Given the description of an element on the screen output the (x, y) to click on. 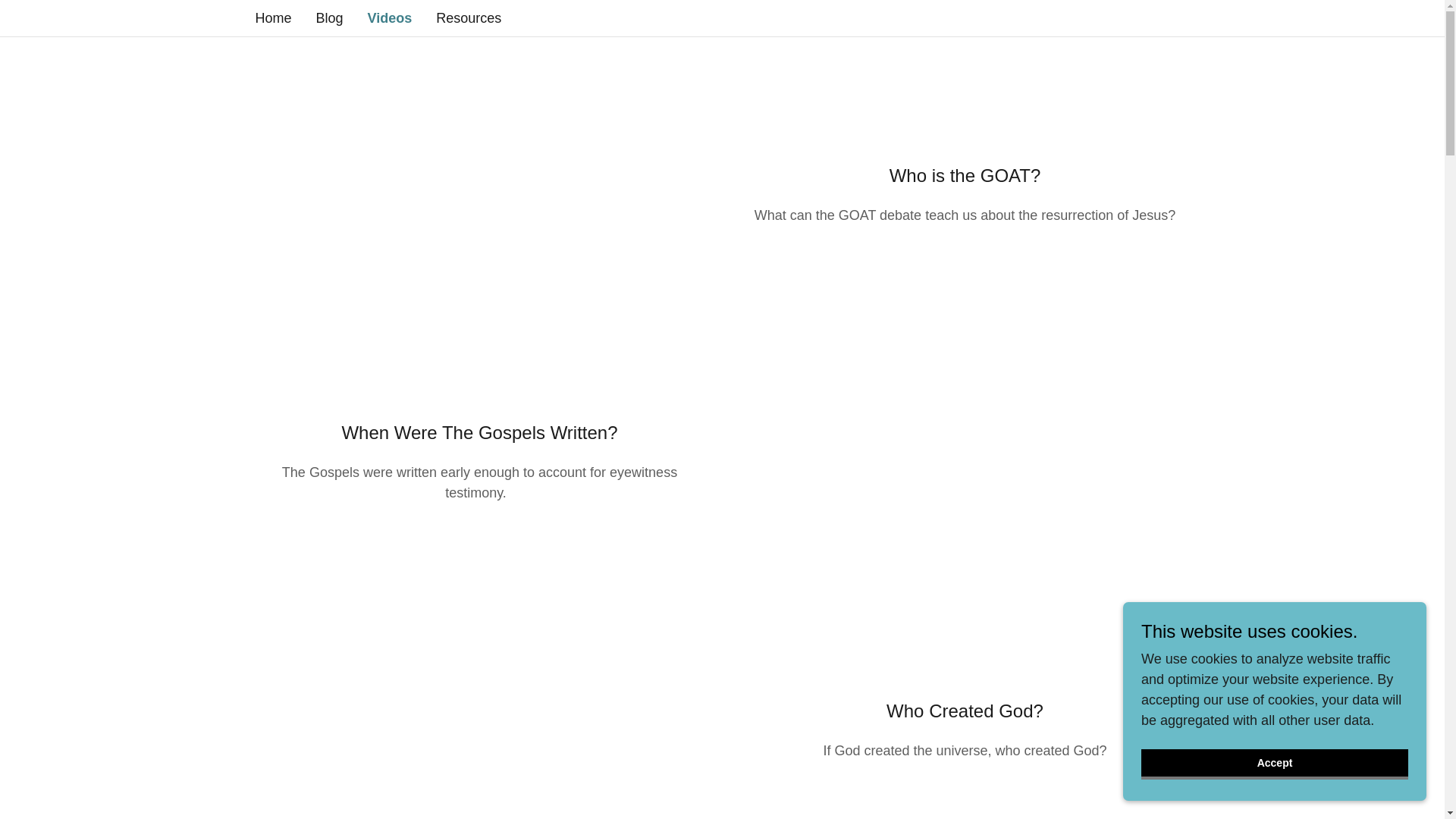
Blog (329, 17)
Resources (467, 17)
Home (272, 17)
Videos (390, 18)
Accept (1274, 764)
